Given the description of an element on the screen output the (x, y) to click on. 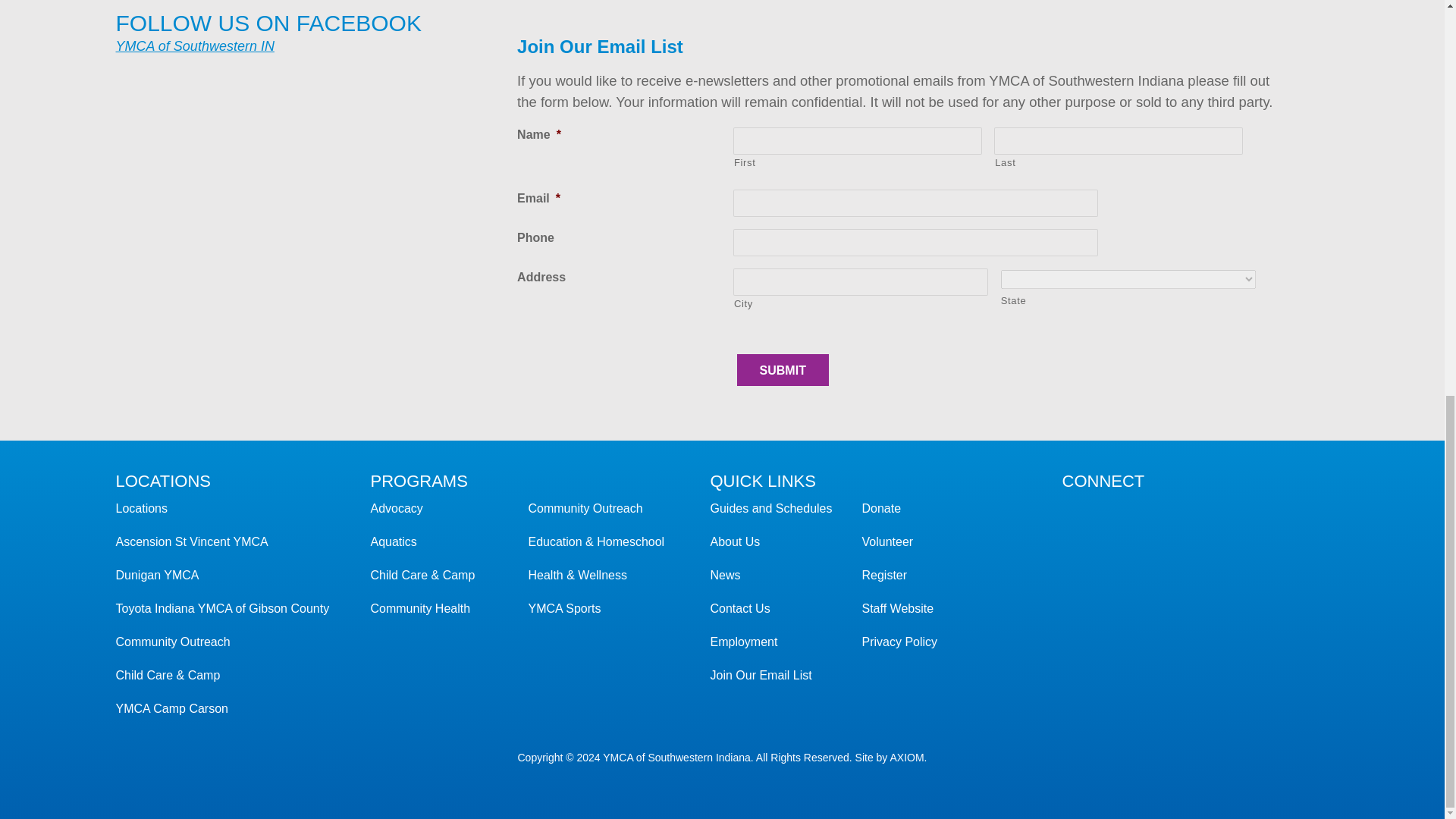
Community Outreach (172, 641)
Dunigan YMCA (156, 574)
Submit (782, 369)
Downtown YMCA (191, 541)
